Given the description of an element on the screen output the (x, y) to click on. 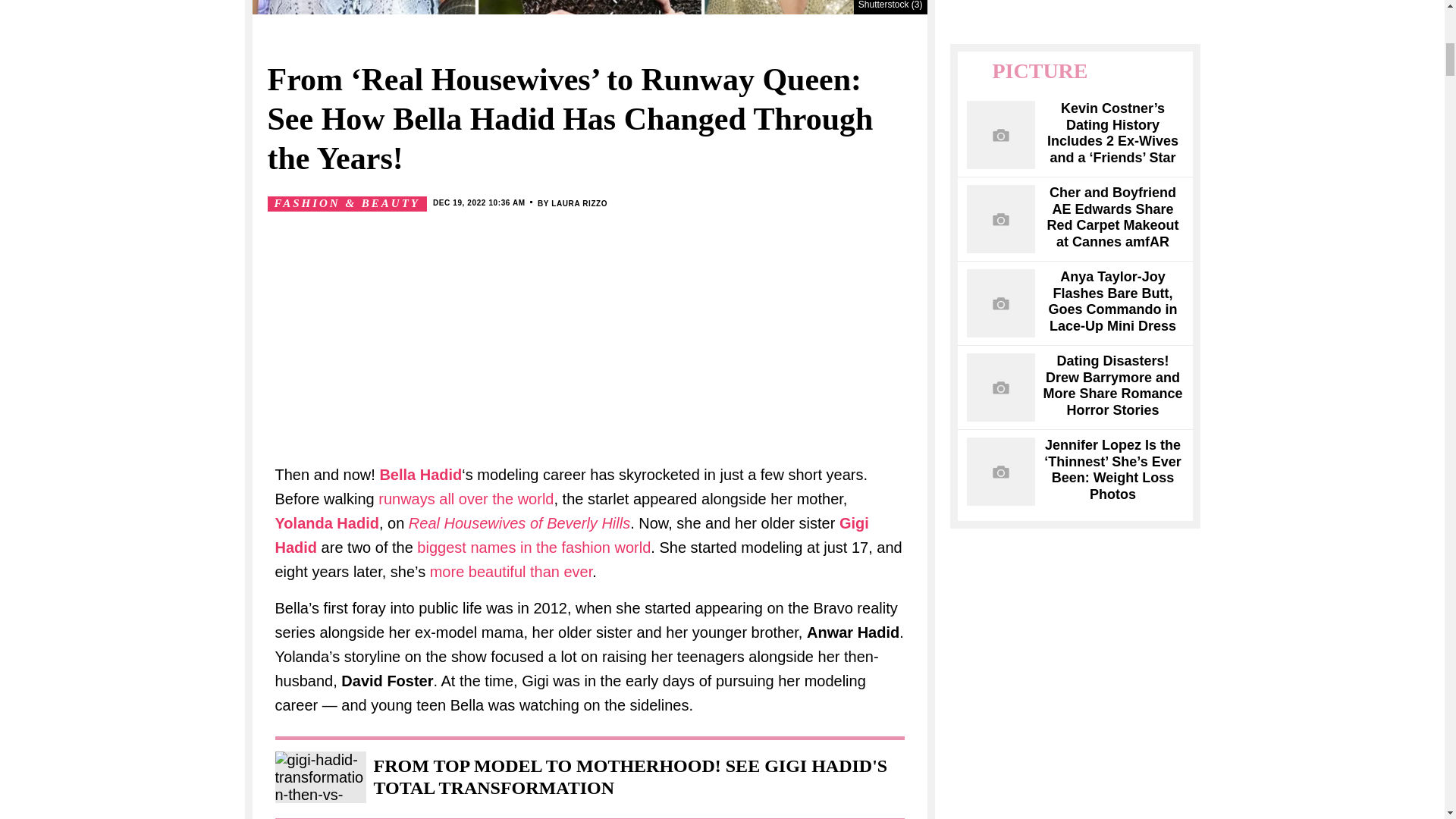
Posts by Laura Rizzo (579, 203)
